Given the description of an element on the screen output the (x, y) to click on. 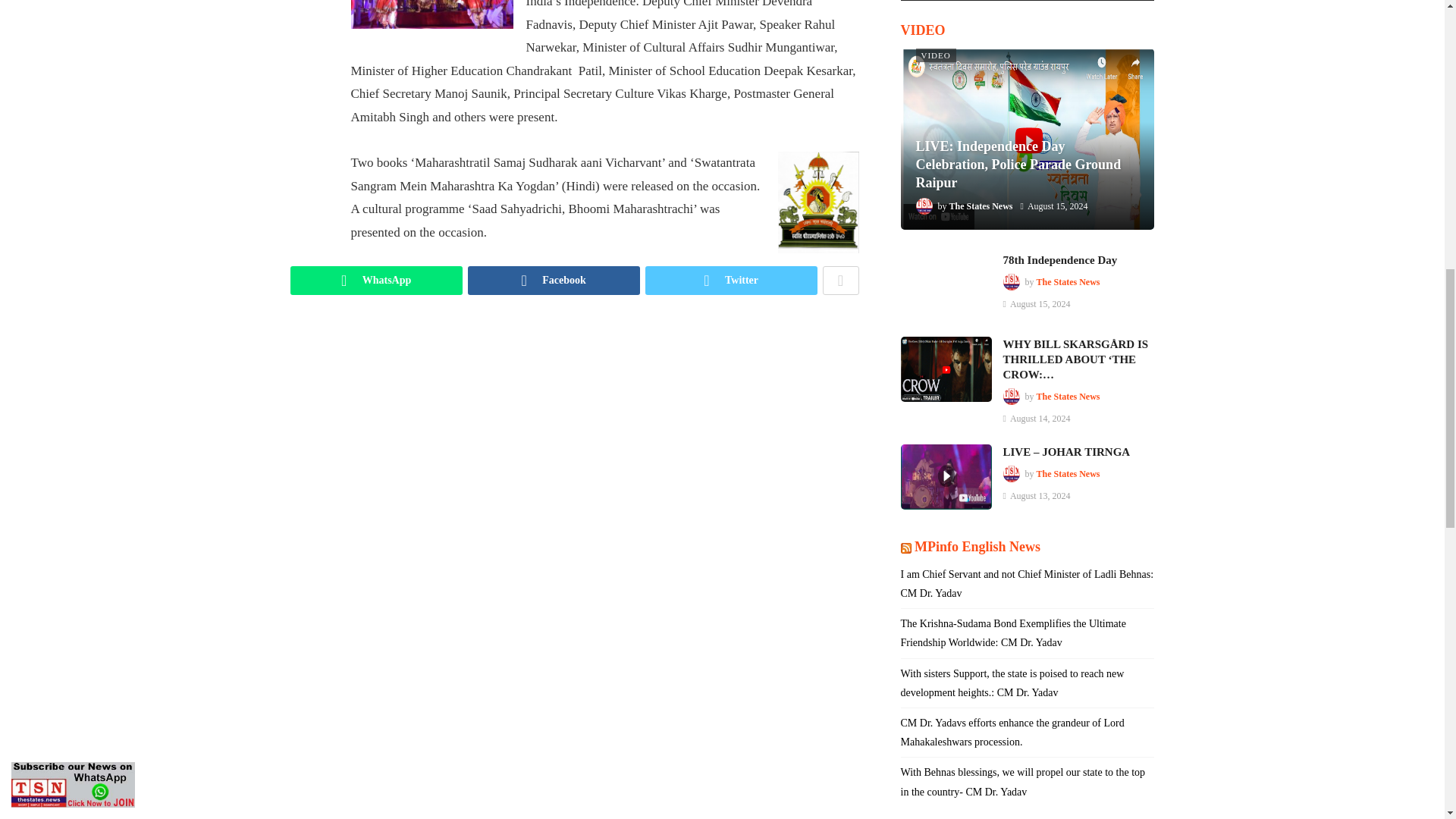
WhatsApp (375, 280)
Facebook (553, 280)
Twitter (730, 280)
78th Independence Day (946, 284)
78th Independence Day (1059, 259)
VIDEO (935, 55)
